Given the description of an element on the screen output the (x, y) to click on. 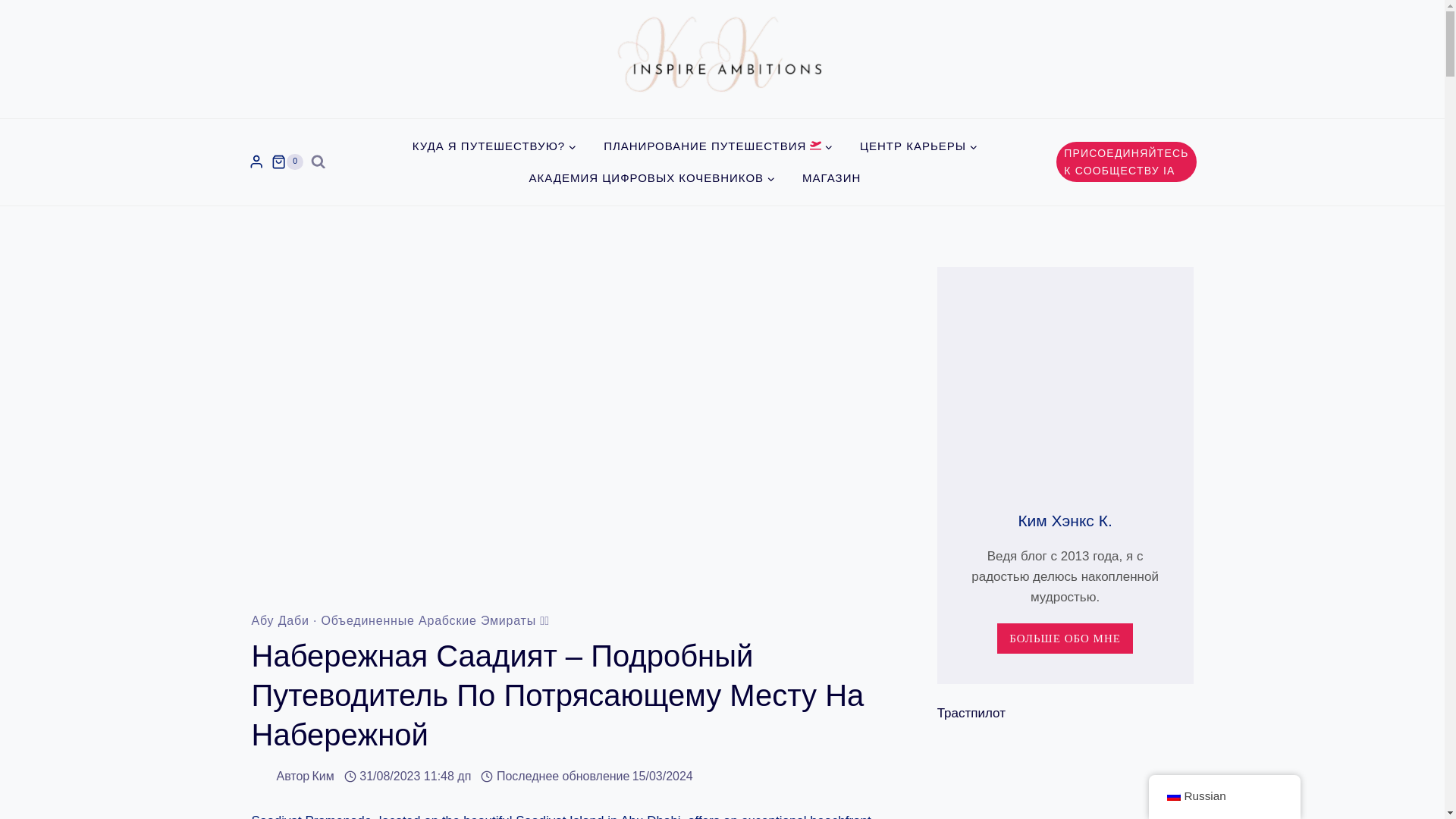
0 (286, 161)
Russian (1172, 795)
